Given the description of an element on the screen output the (x, y) to click on. 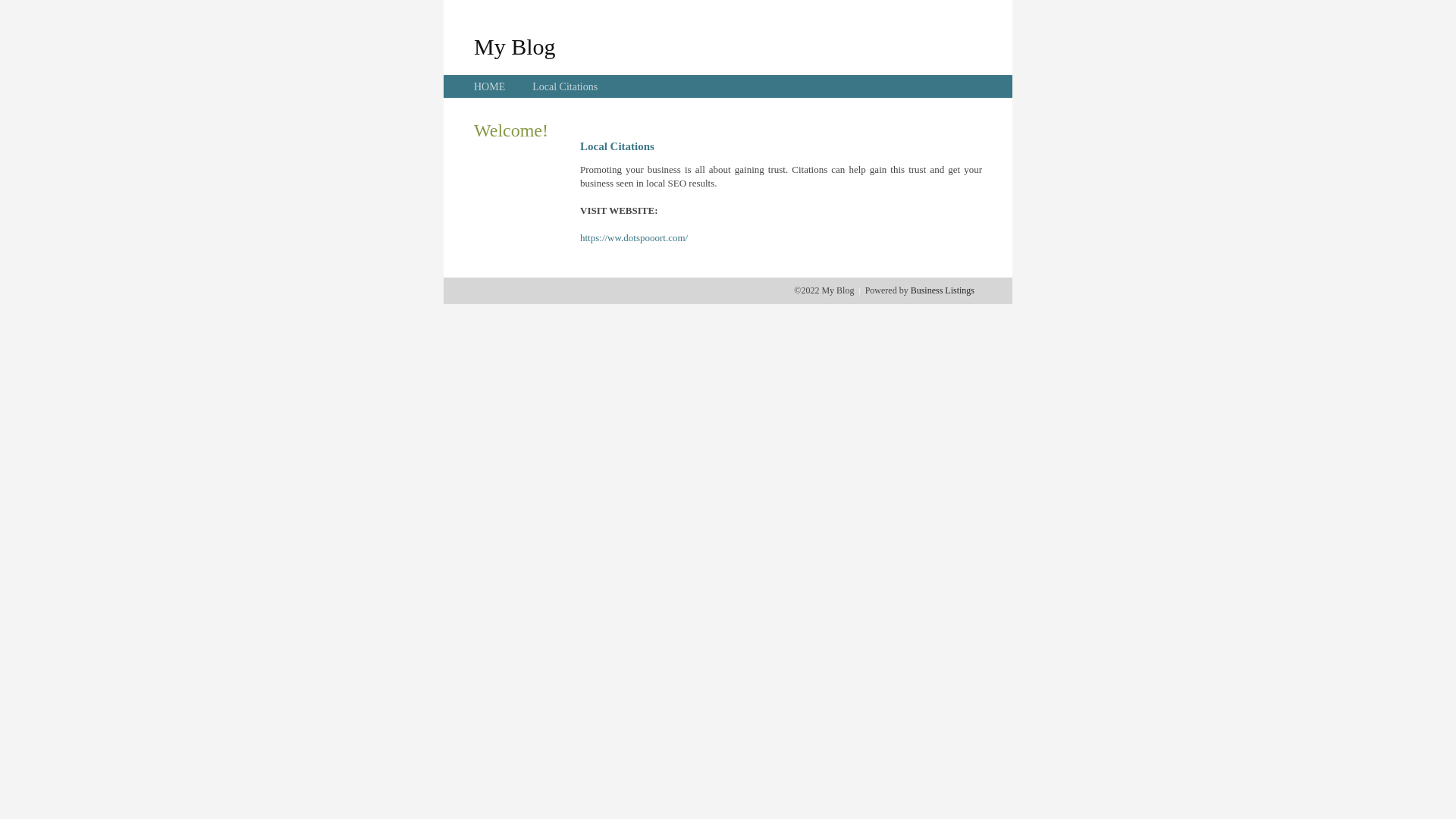
Business Listings Element type: text (942, 290)
https://ww.dotspooort.com/ Element type: text (633, 237)
Local Citations Element type: text (564, 86)
HOME Element type: text (489, 86)
My Blog Element type: text (514, 46)
